Given the description of an element on the screen output the (x, y) to click on. 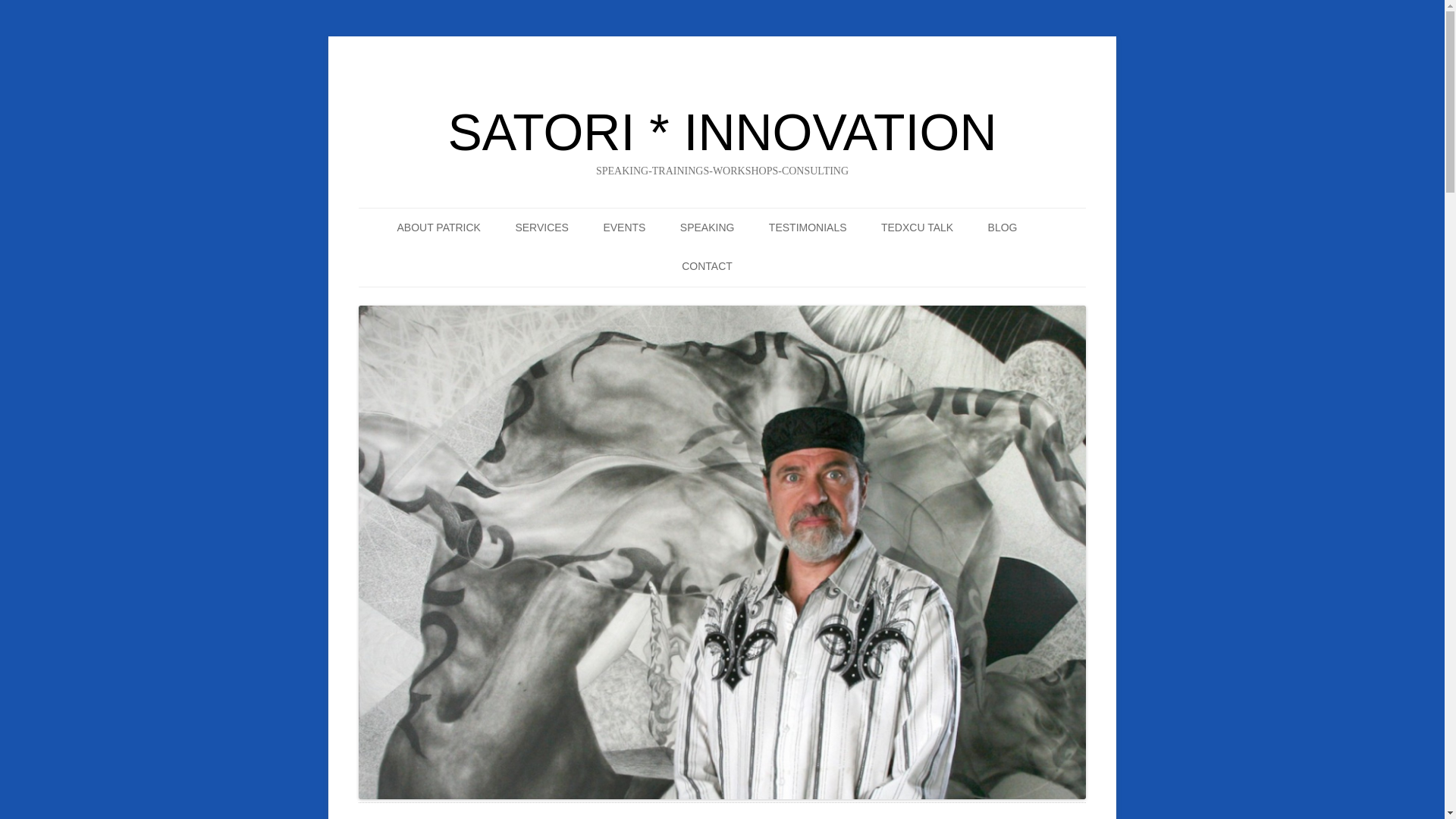
EVENTS (623, 228)
SERVICES (542, 228)
SPEAKING (707, 228)
CONTACT (706, 266)
TEDXCU TALK (916, 228)
Skip to content (771, 215)
TESTIMONIALS (807, 228)
ABOUT PATRICK (438, 228)
Skip to content (771, 215)
